Given the description of an element on the screen output the (x, y) to click on. 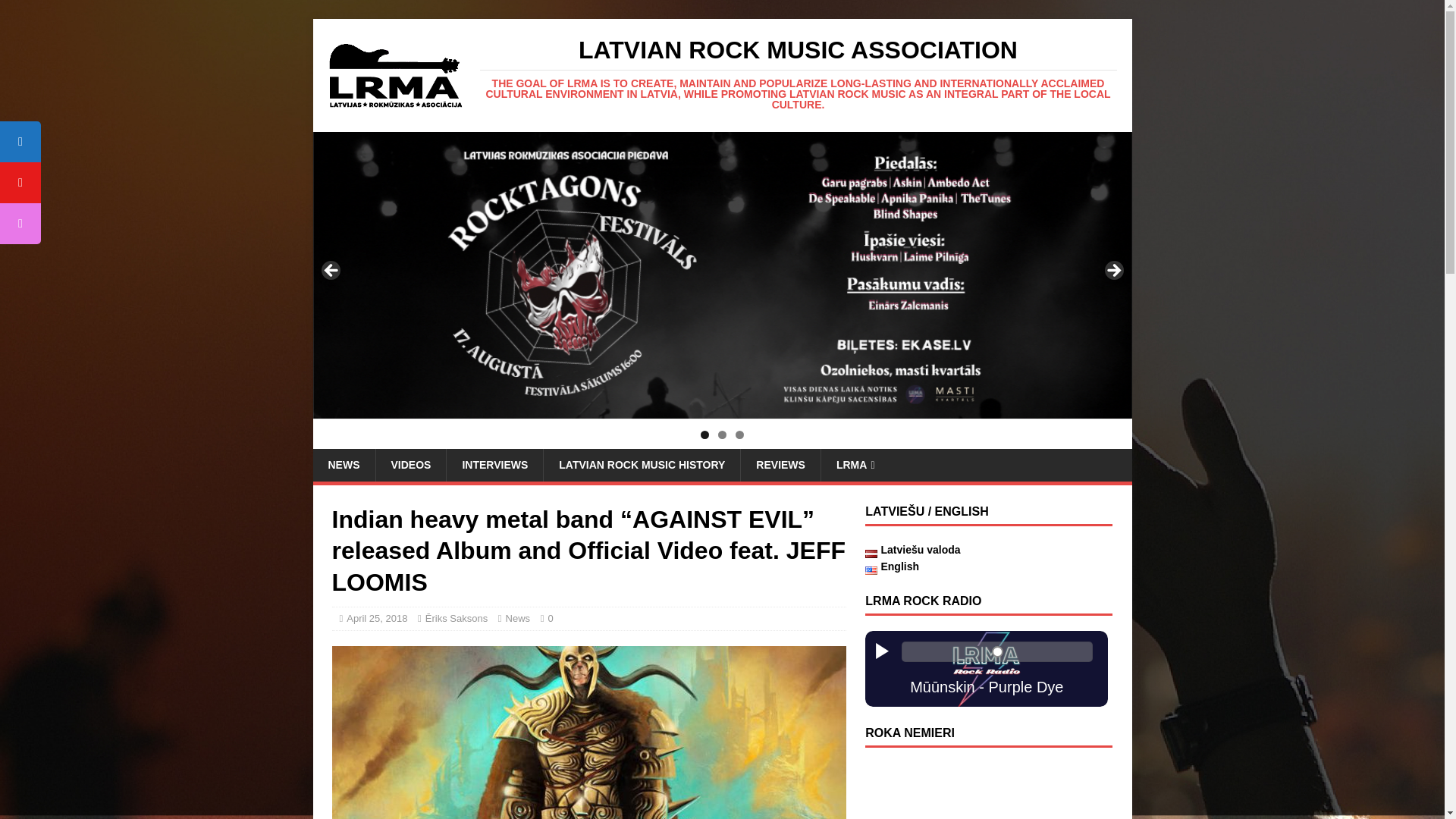
Latvian Rock Music Association (797, 73)
2 (721, 434)
LATVIAN ROCK MUSIC HISTORY (641, 464)
REVIEWS (780, 464)
Previous (331, 271)
0.5 (997, 651)
NEWS (343, 464)
April 25, 2018 (376, 618)
Next (1112, 271)
LRMA (855, 464)
VIDEOS (409, 464)
News (518, 618)
INTERVIEWS (494, 464)
